Given the description of an element on the screen output the (x, y) to click on. 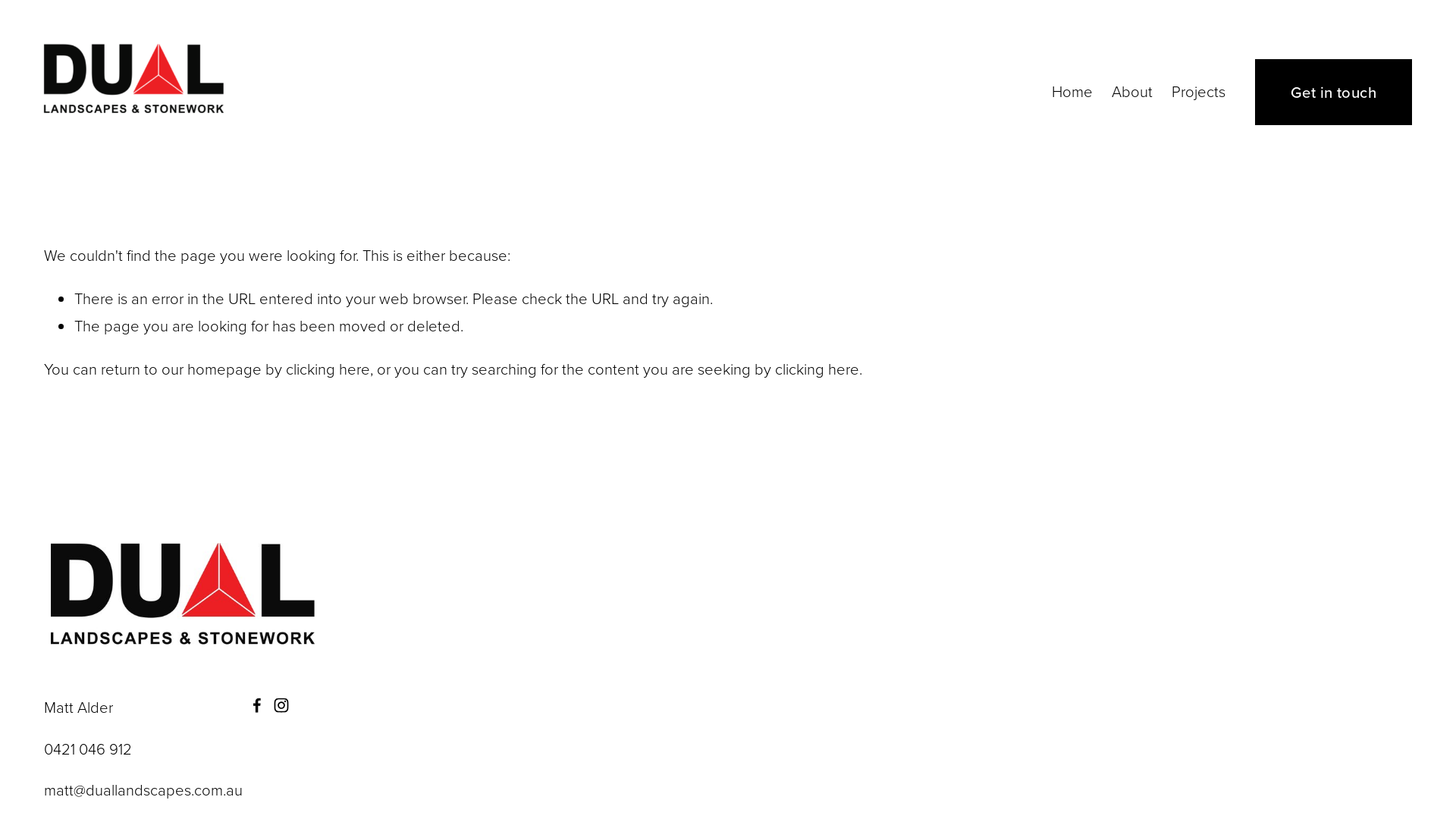
clicking here Element type: text (817, 368)
Projects Element type: text (1198, 91)
Get in touch Element type: text (1333, 92)
clicking here Element type: text (327, 368)
Home Element type: text (1071, 91)
About Element type: text (1131, 91)
